Given the description of an element on the screen output the (x, y) to click on. 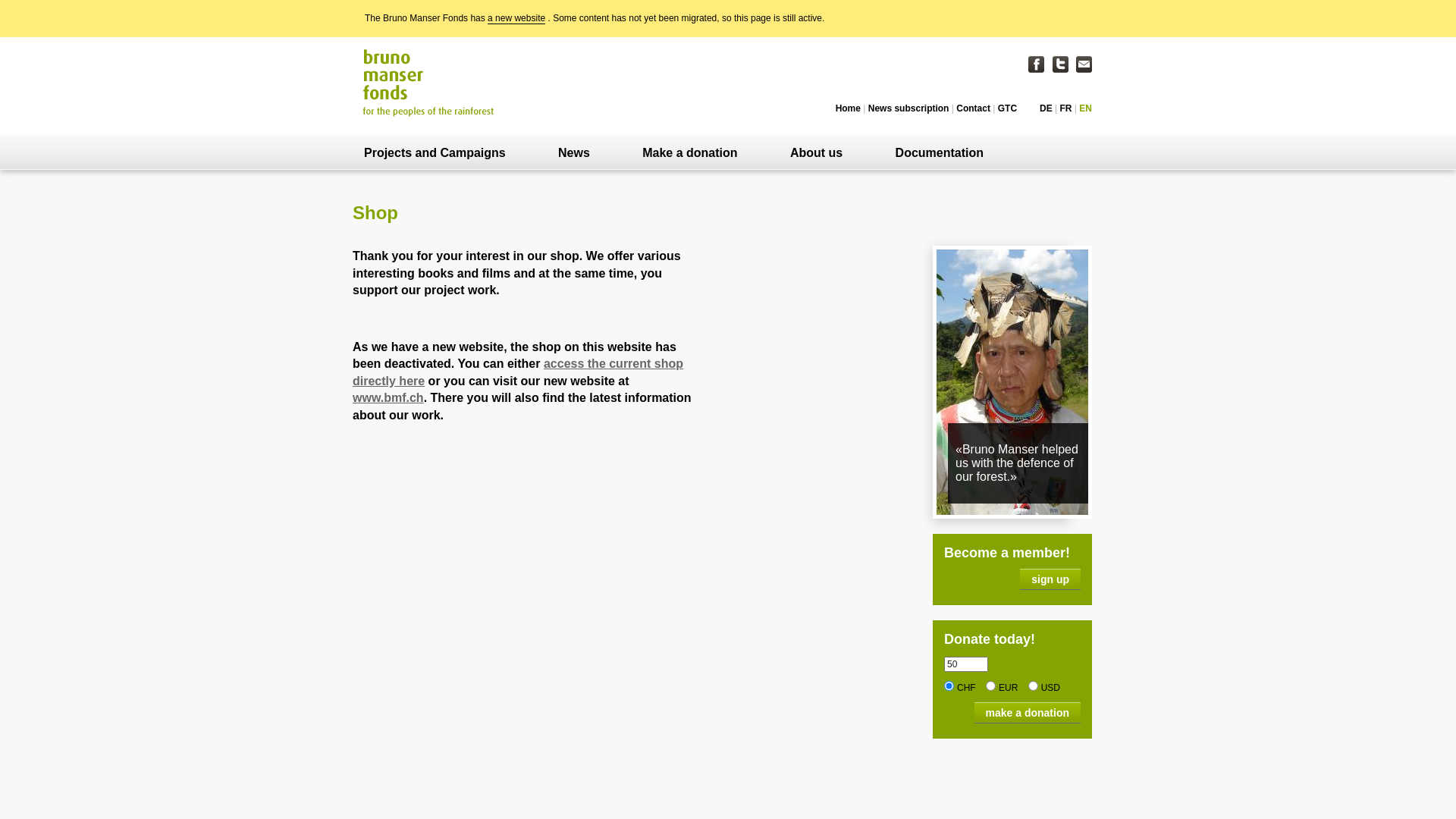
About us Element type: text (815, 152)
make a donation Element type: text (1027, 712)
News Element type: text (573, 152)
sign up Element type: text (1049, 578)
Documentation Element type: text (939, 152)
Projects and Campaigns Element type: text (434, 152)
FR Element type: text (1066, 108)
Twitter Element type: hover (1060, 64)
Home Element type: hover (428, 81)
access the current shop directly here Element type: text (517, 371)
Mail Element type: hover (1084, 64)
EN Element type: text (1085, 108)
News subscription Element type: text (908, 108)
www.bmf.ch Element type: text (387, 397)
a new website Element type: text (516, 18)
DE Element type: text (1045, 108)
GTC Element type: text (1006, 108)
Make a donation Element type: text (689, 152)
Contact Element type: text (973, 108)
Facebook Element type: hover (1036, 64)
Home Element type: text (847, 108)
